Given the description of an element on the screen output the (x, y) to click on. 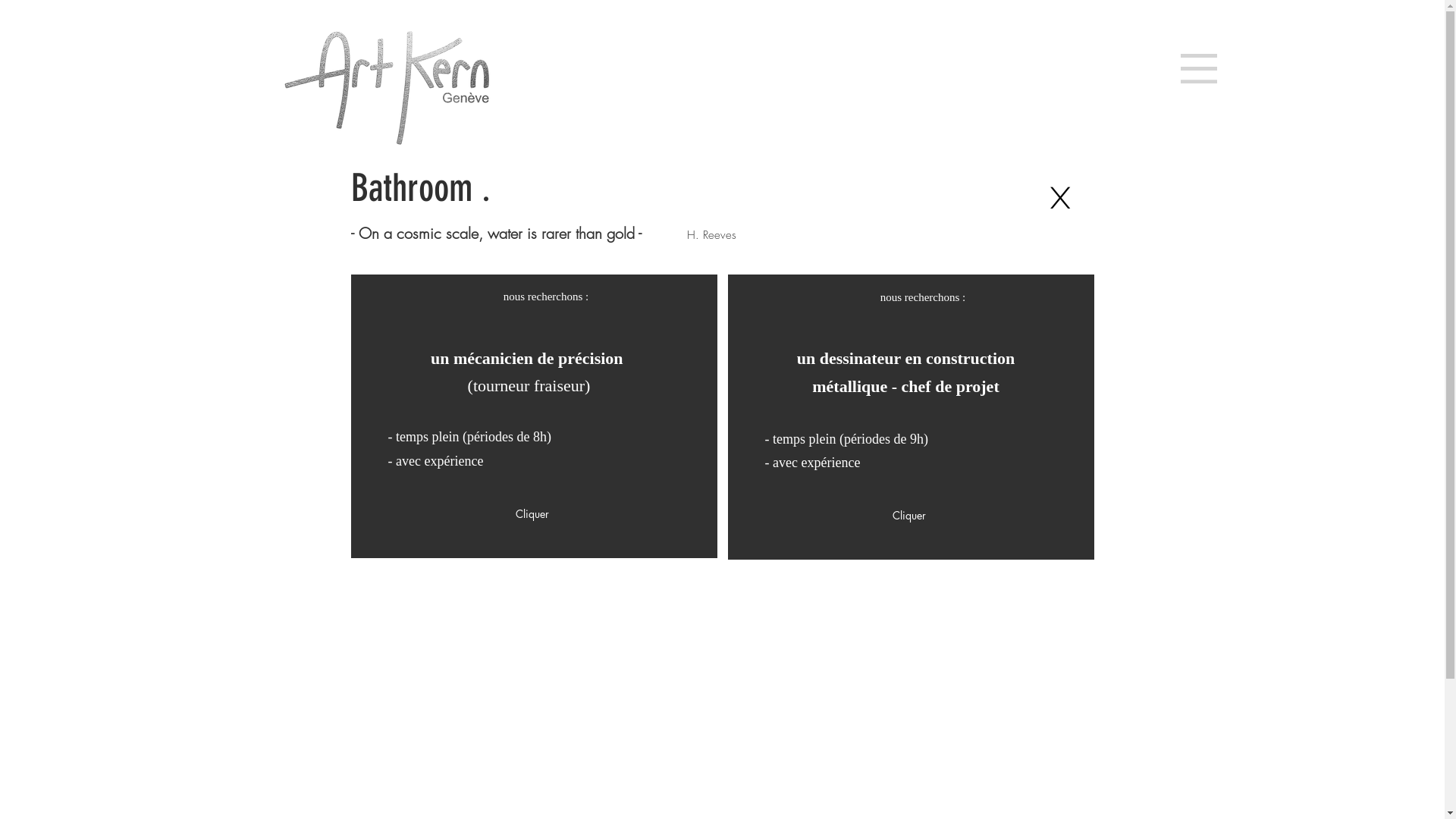
Cliquer Element type: text (532, 513)
Cliquer Element type: text (910, 515)
X Element type: text (1059, 197)
